Given the description of an element on the screen output the (x, y) to click on. 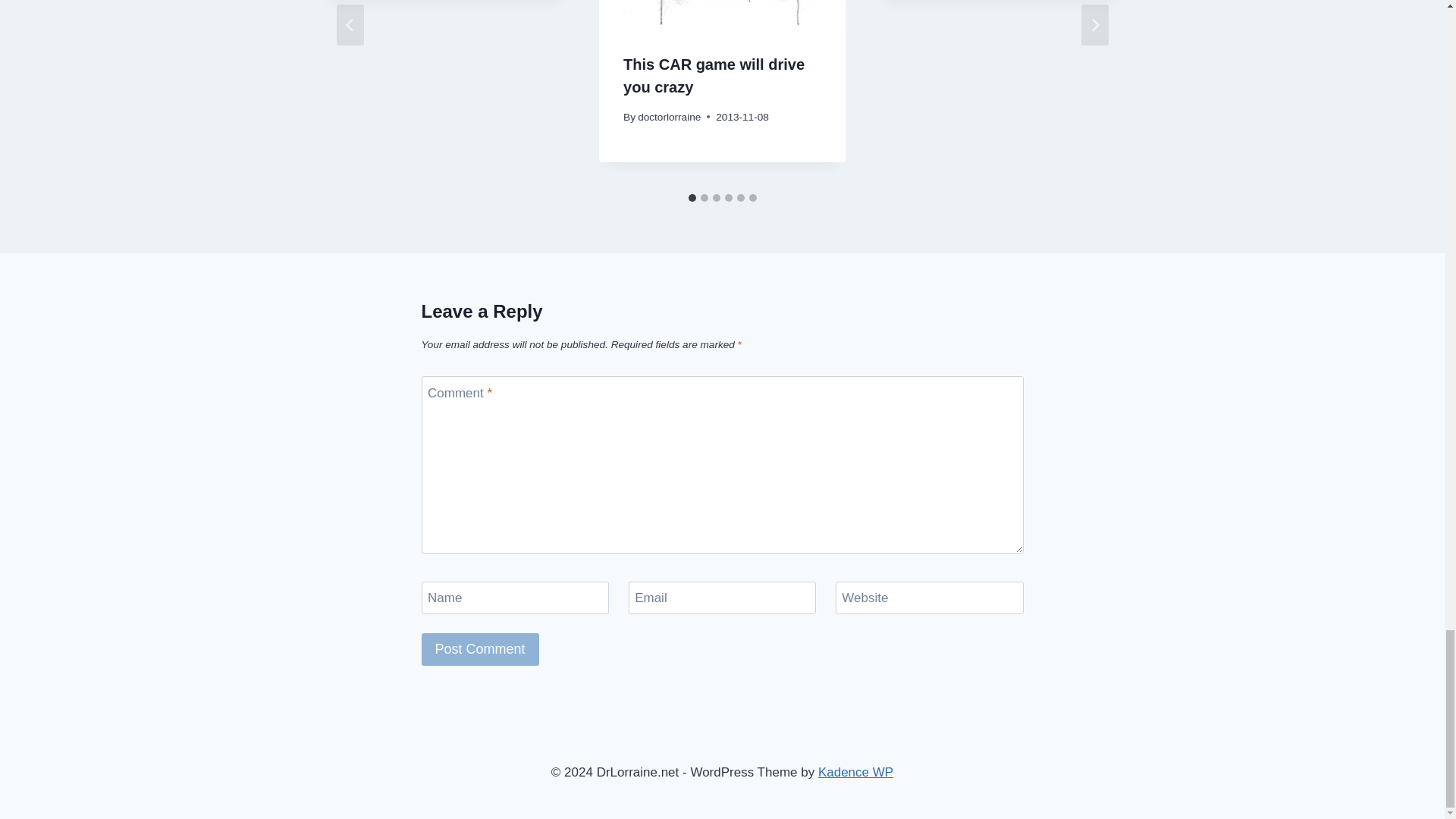
Post Comment (480, 649)
